Given the description of an element on the screen output the (x, y) to click on. 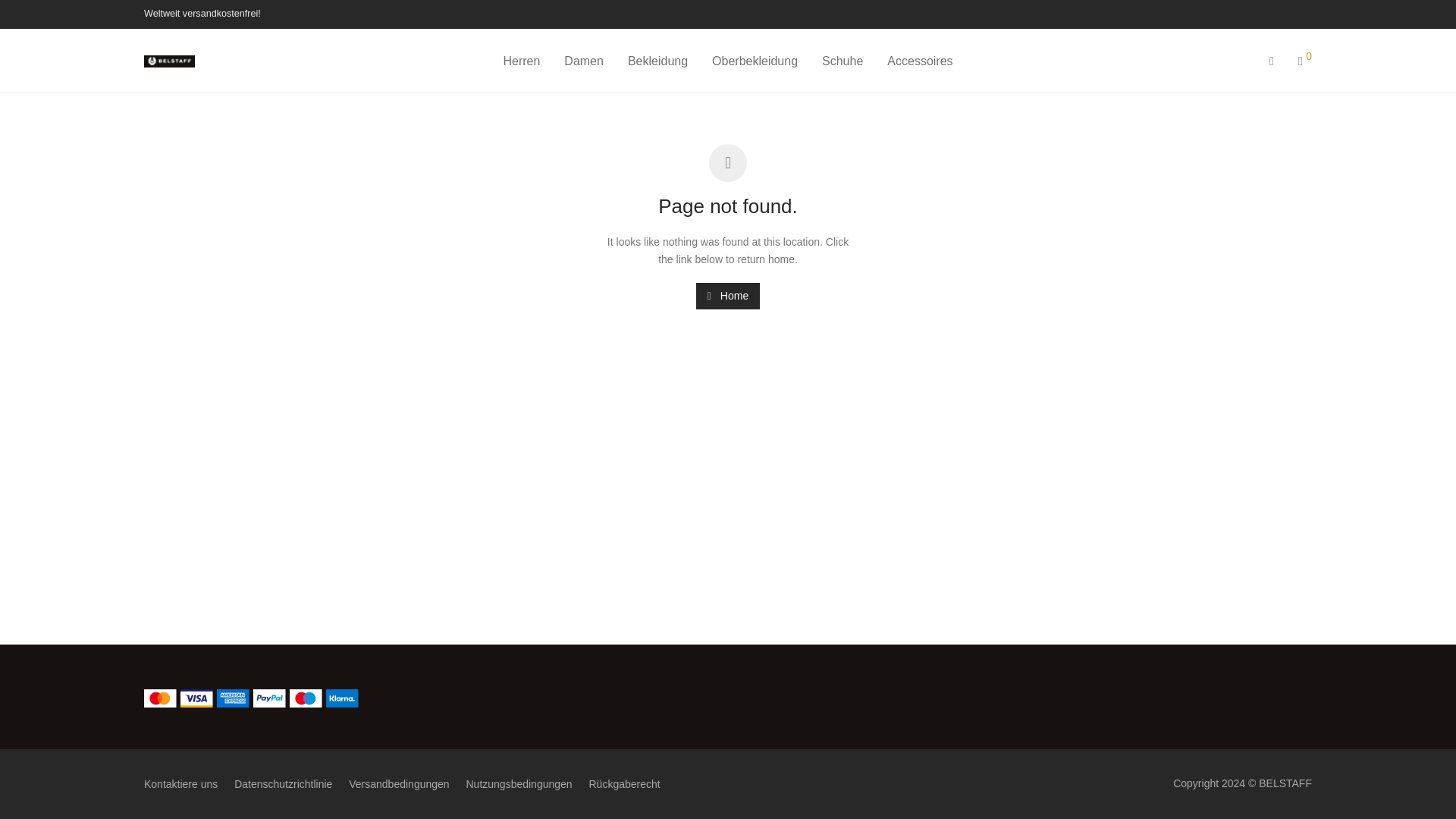
Kontaktiere uns (180, 784)
Nutzungsbedingungen (518, 784)
Bekleidung (657, 61)
Damen (583, 61)
Versandbedingungen (398, 784)
Oberbekleidung (754, 61)
Schuhe (842, 61)
Datenschutzrichtlinie (282, 784)
Home (727, 295)
Herren (520, 61)
